Given the description of an element on the screen output the (x, y) to click on. 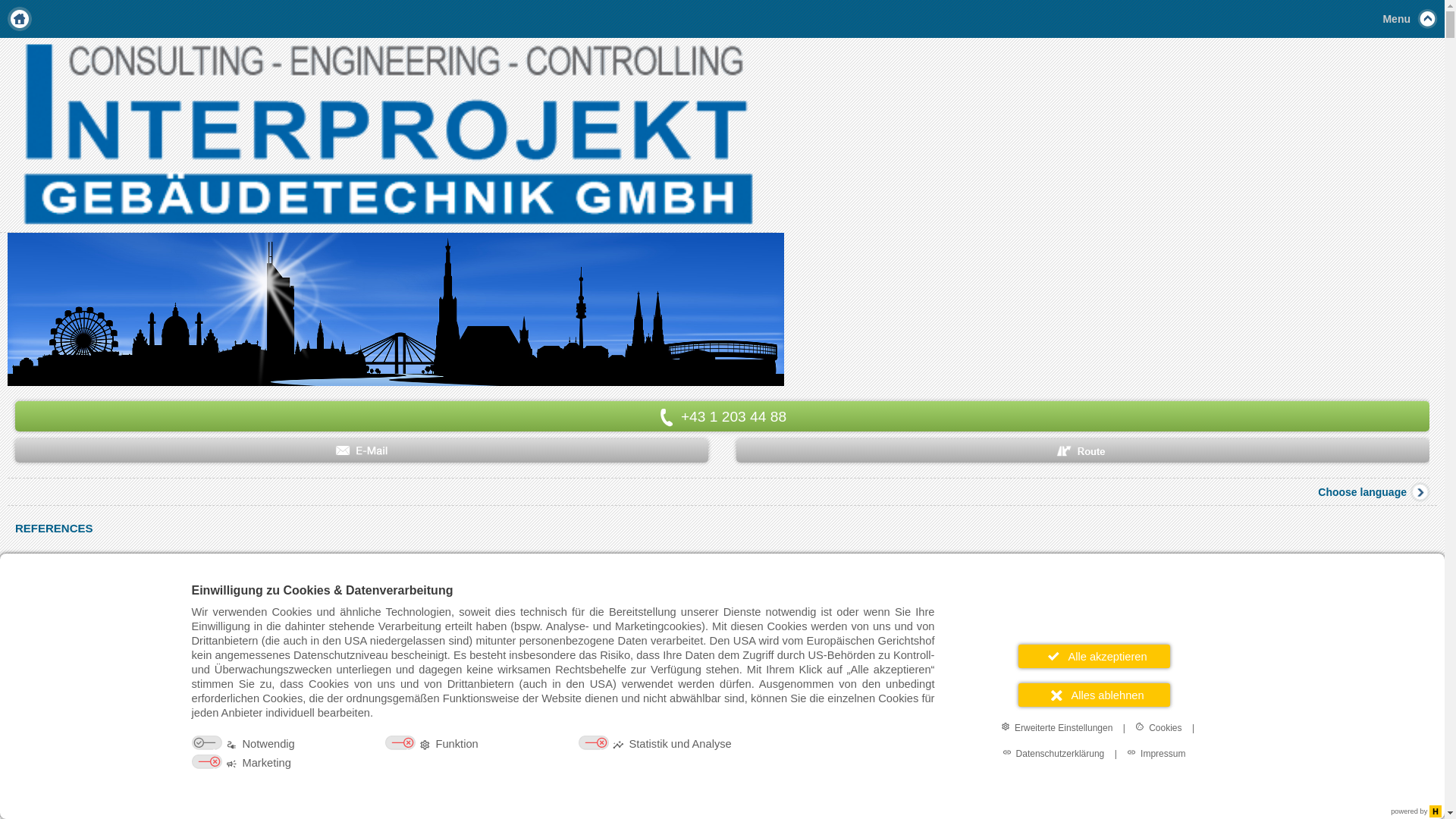
Erweiterte Einstellungen Element type: text (1056, 727)
Alle akzeptieren Element type: text (1093, 656)
Cookies Element type: text (1158, 727)
Alles ablehnen Element type: text (1093, 694)
office@interprojekt.cc Element type: text (361, 450)
Impressum Element type: text (1155, 752)
Choose language Element type: text (1377, 491)
Map and route Element type: text (1082, 450)
+43 1 203 44 88 Element type: text (722, 416)
Home Element type: text (19, 18)
Datenschutz-Einstellungen Element type: hover (17, 801)
Menu Element type: text (722, 18)
